Given the description of an element on the screen output the (x, y) to click on. 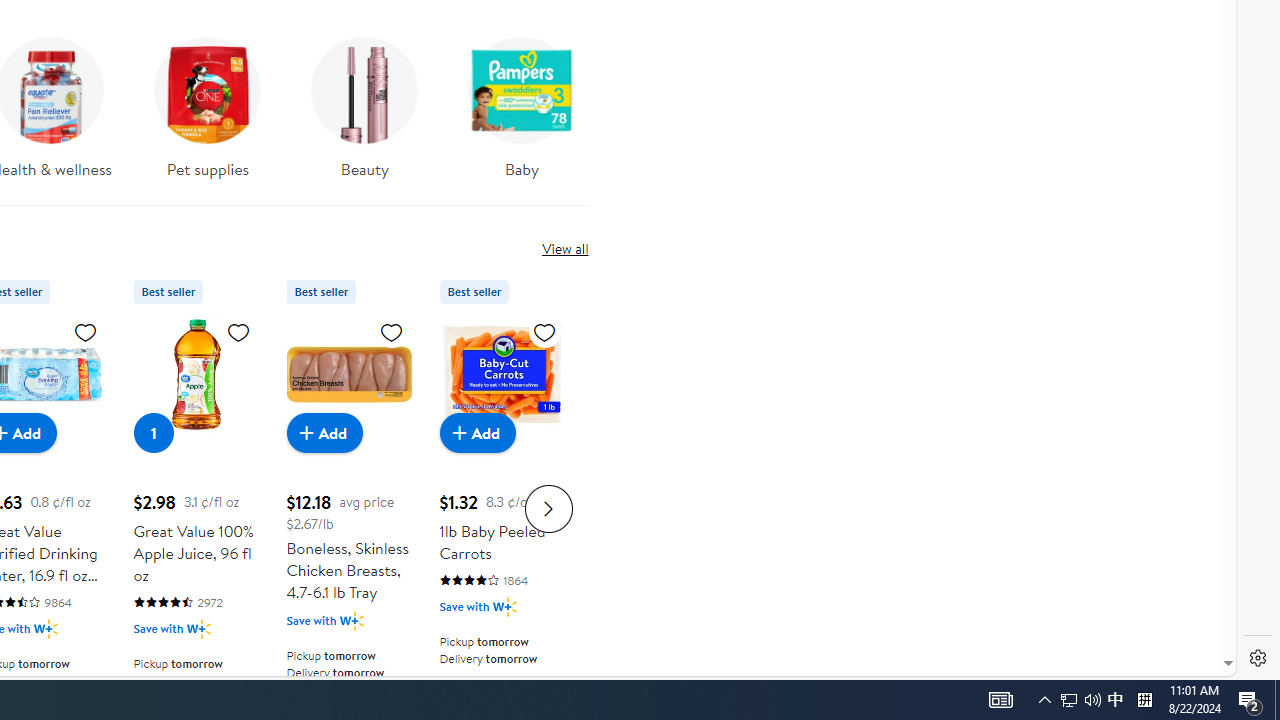
Sign in to add to Favorites list, 1lb Baby Peeled Carrots (543, 331)
Beauty (365, 101)
View all (564, 248)
Settings (1258, 658)
Pet supplies (207, 114)
Baby (521, 114)
Beauty (364, 114)
Pet supplies (207, 101)
1lb Baby Peeled Carrots (501, 374)
Baby (521, 101)
Walmart Plus (504, 606)
Next slide for Product Carousel list (548, 507)
Boneless, Skinless Chicken Breasts, 4.7-6.1 lb Tray (348, 374)
